Given the description of an element on the screen output the (x, y) to click on. 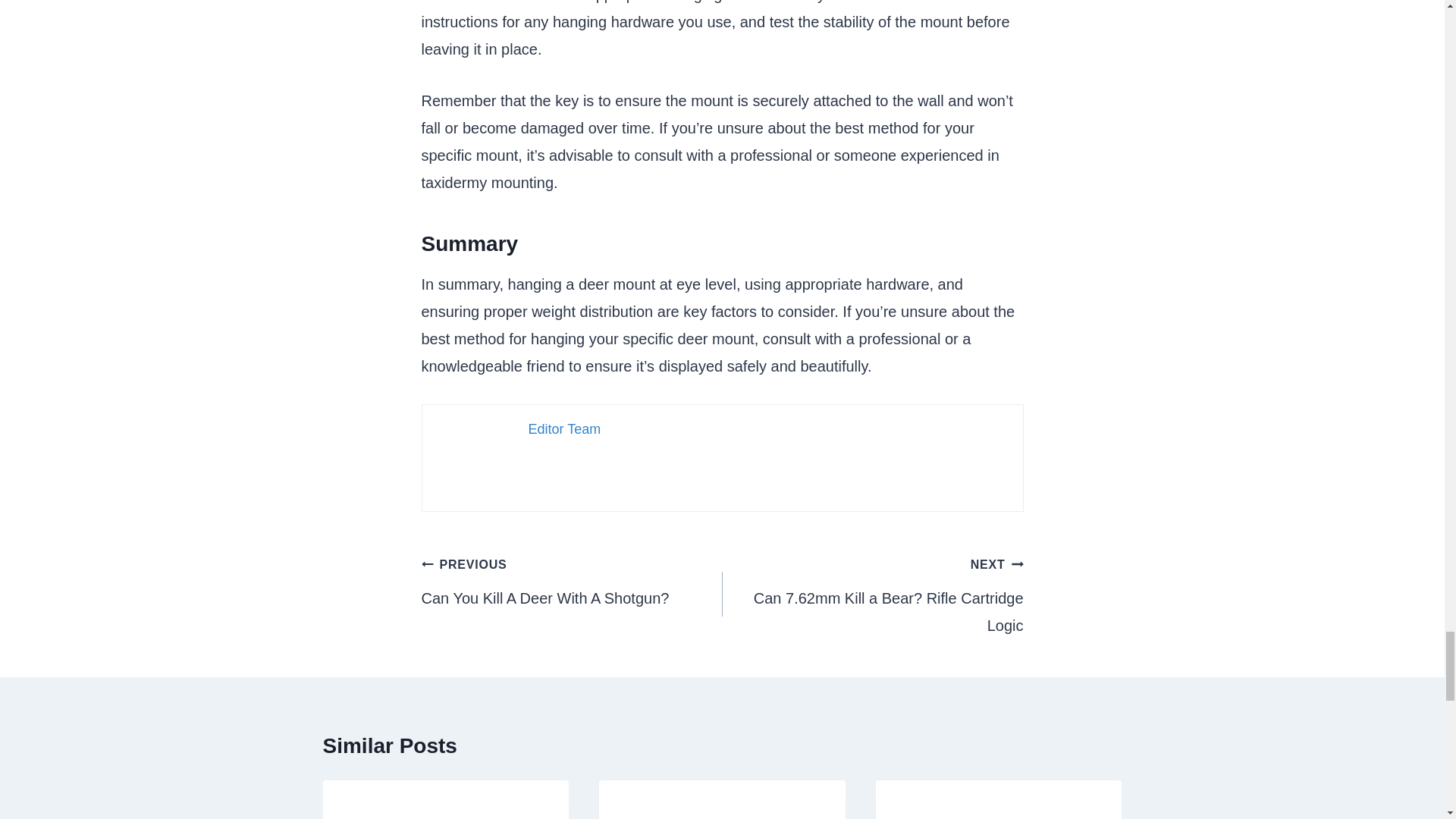
Editor Team (872, 594)
